Given the description of an element on the screen output the (x, y) to click on. 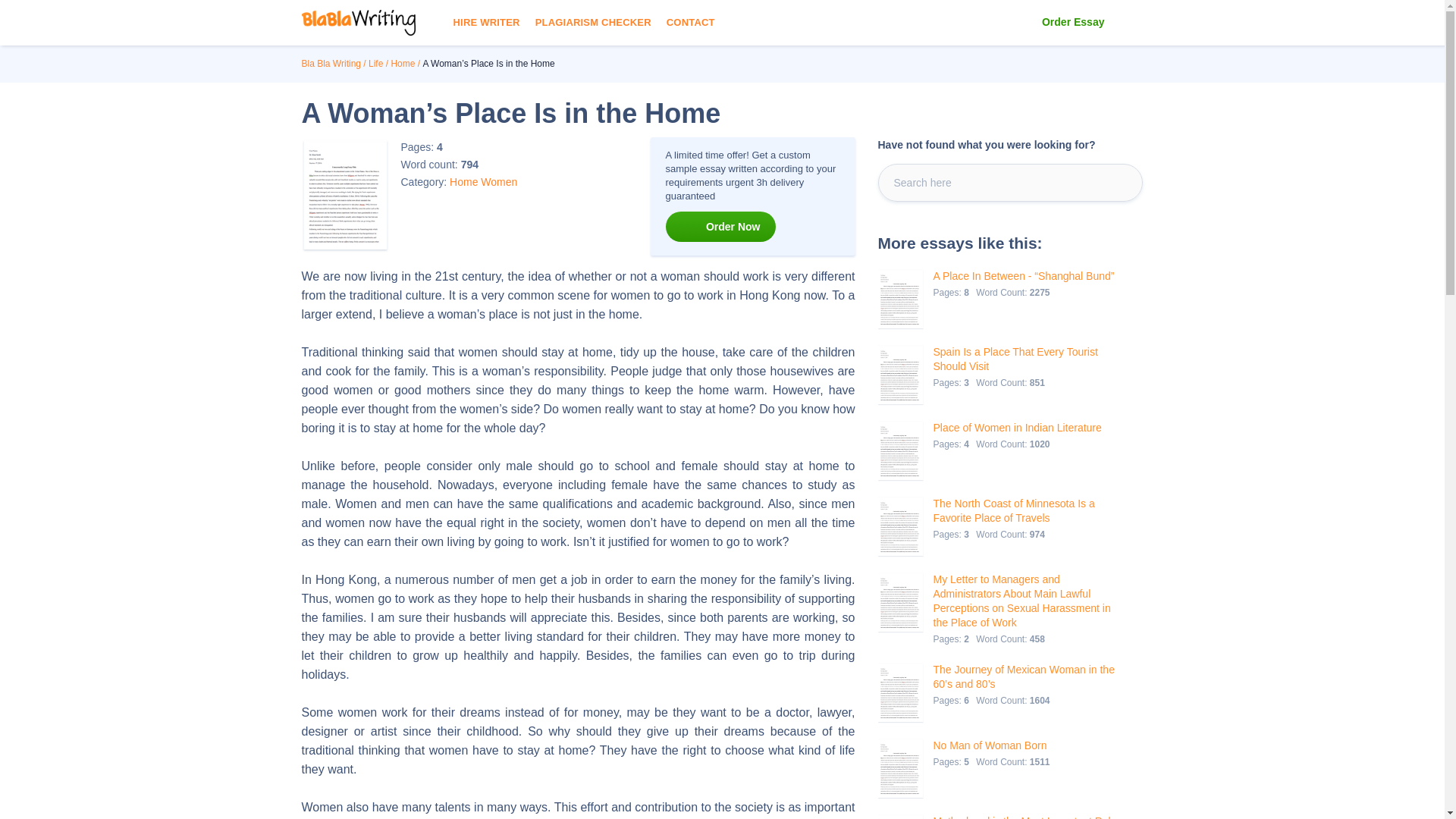
Home (402, 63)
Bla Bla Writing (331, 63)
Life. (375, 63)
No Man of Woman Born (992, 745)
Bla Bla Writing. (331, 63)
Life (375, 63)
HIRE WRITER (485, 22)
Home. (402, 63)
The North Coast of Minnesota Is a Favorite Place of Travels (1025, 510)
PLAGIARISM CHECKER (592, 22)
